Given the description of an element on the screen output the (x, y) to click on. 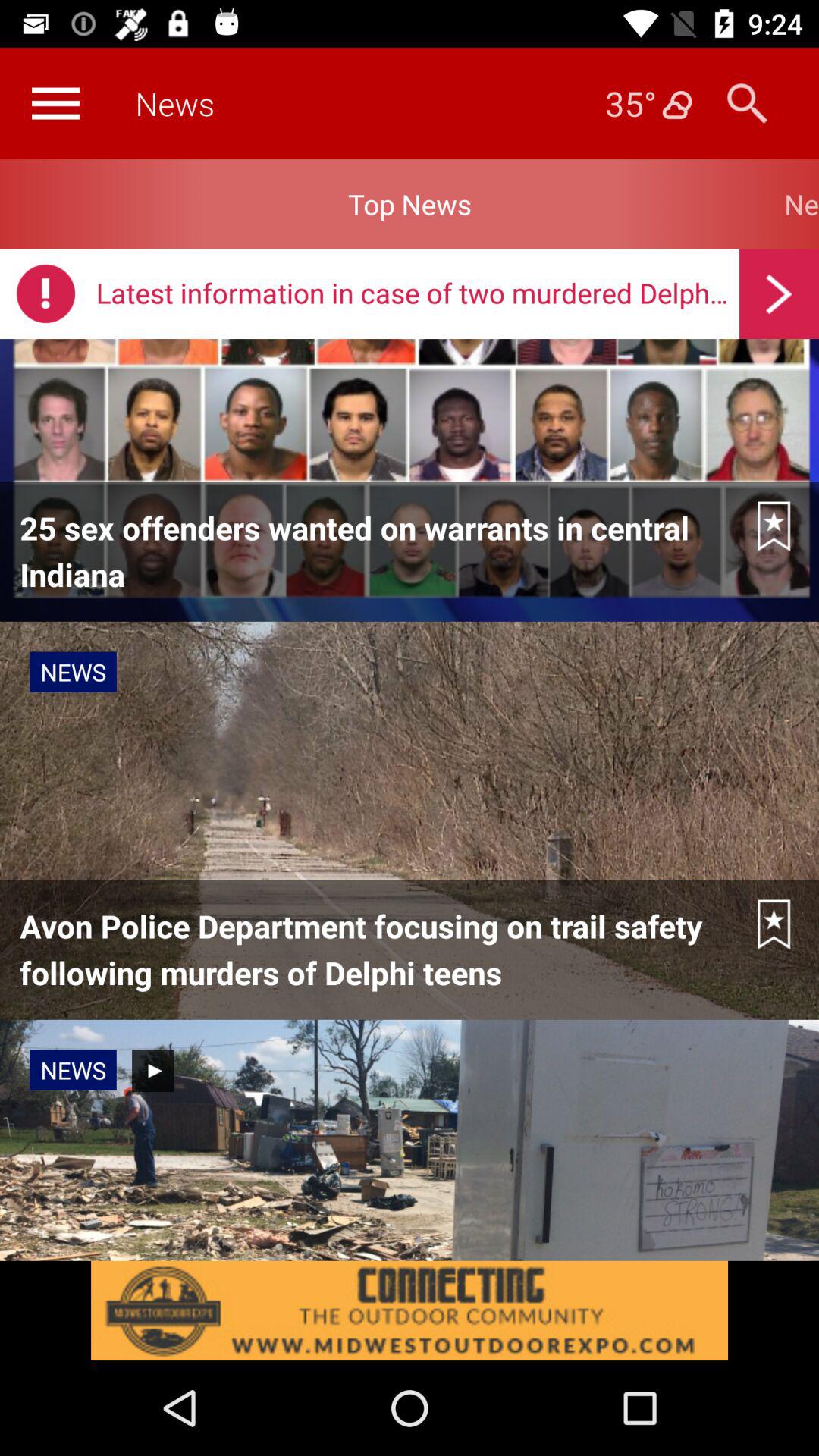
go to customs (55, 103)
